Given the description of an element on the screen output the (x, y) to click on. 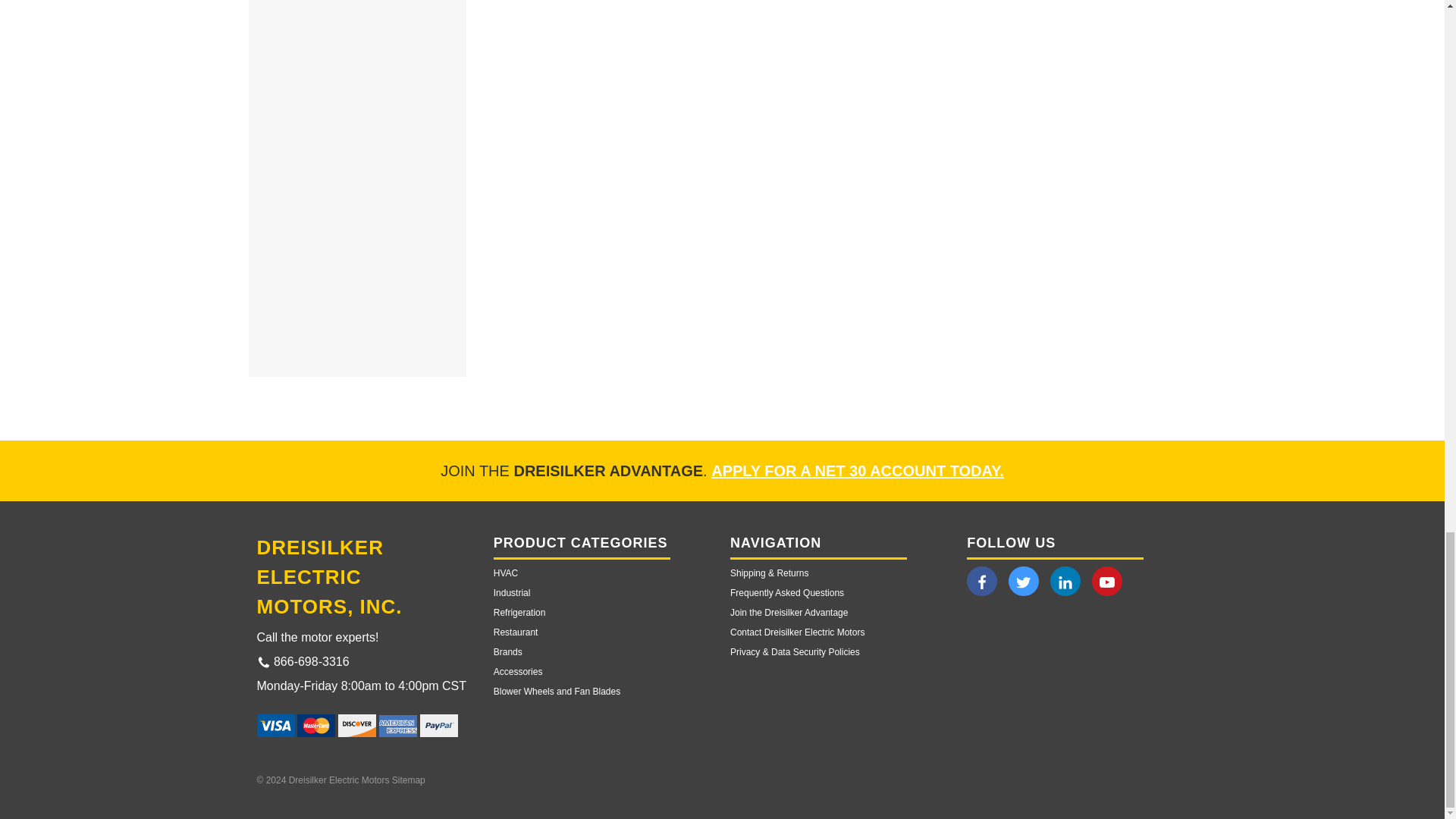
We accept Visa Visa logo (275, 725)
We accept American Express American Express logo (397, 725)
We accept Discover Discover logo (356, 725)
We accept Mastercard Mastercard logo (315, 725)
We accept Paypal Paypal logo (439, 725)
